Given the description of an element on the screen output the (x, y) to click on. 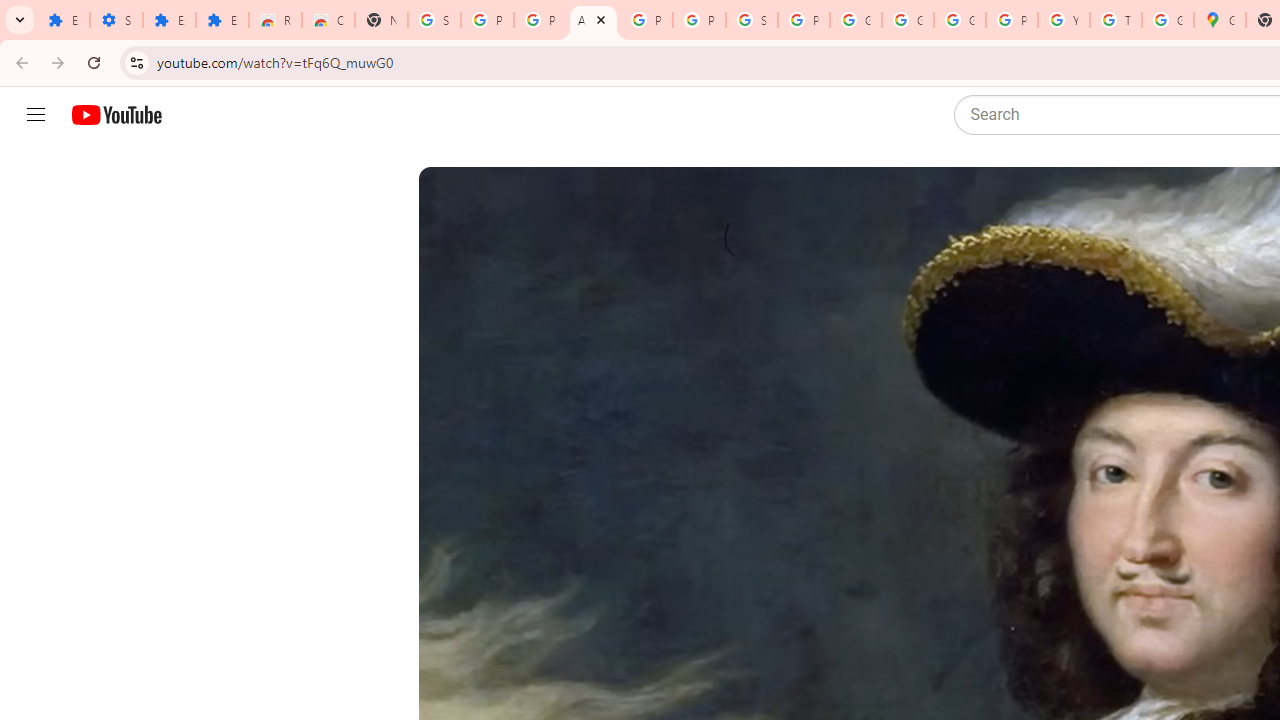
Extensions (169, 20)
